Given the description of an element on the screen output the (x, y) to click on. 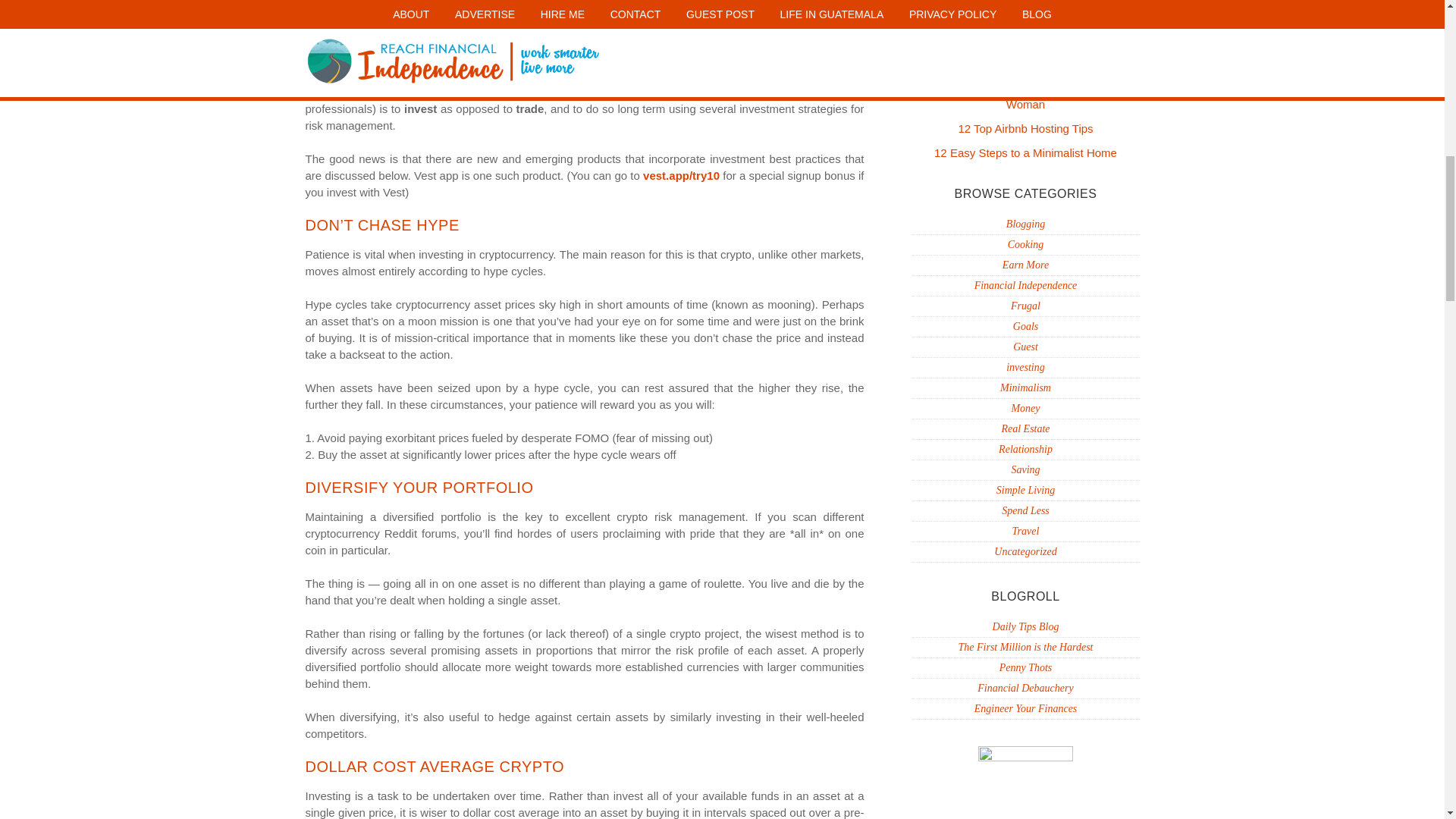
Cooking (1025, 244)
Blogging (1025, 224)
According to Nasdaq (361, 24)
Earn More (1025, 265)
Why I Became a Financially Independent Woman (1025, 97)
Can Online Gaming Pay The Bills? (1025, 65)
12 Top Airbnb Hosting Tips (1025, 128)
12 Easy Steps to a Minimalist Home (1025, 152)
